Given the description of an element on the screen output the (x, y) to click on. 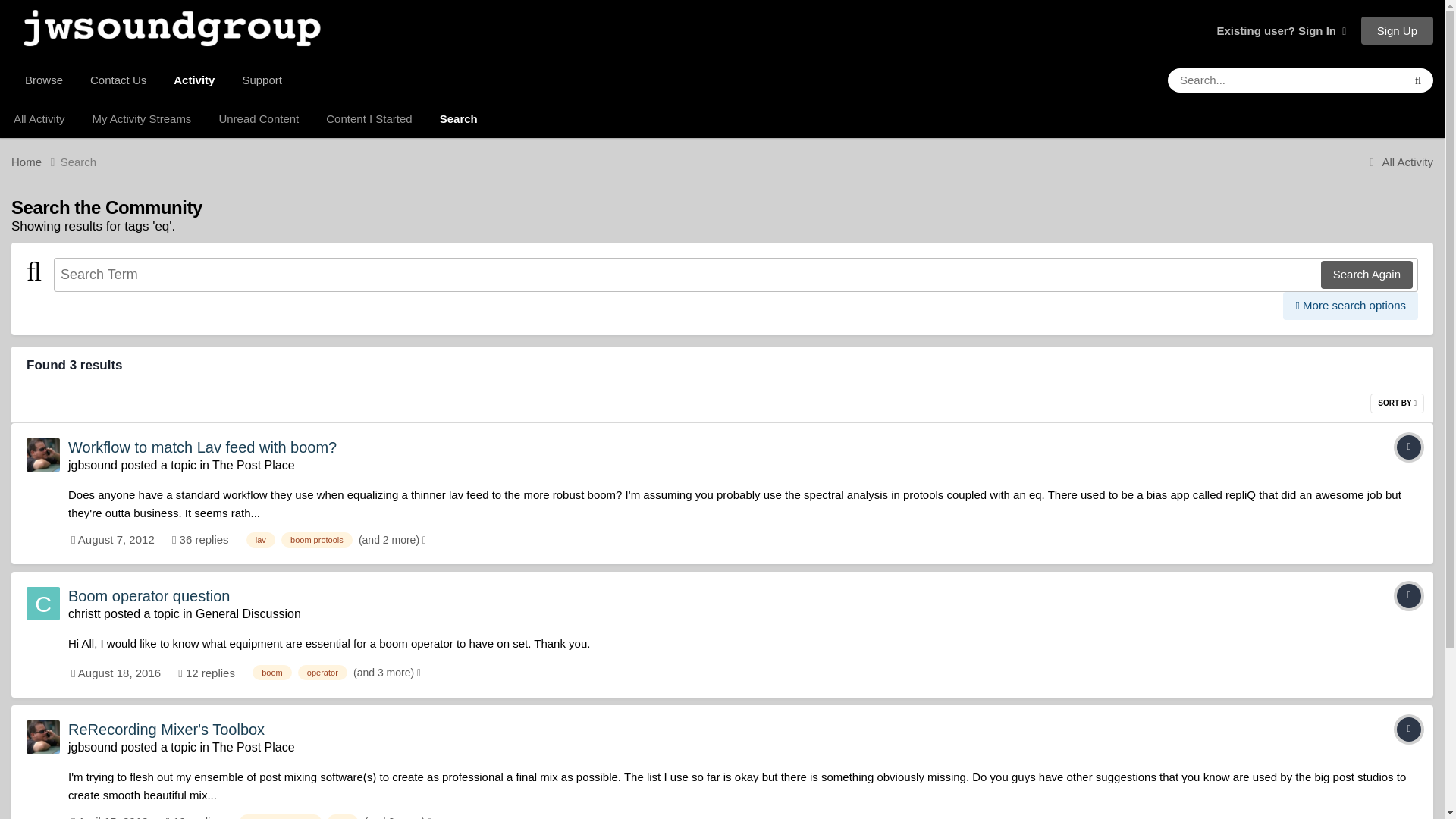
Existing user? Sign In   (1280, 30)
Search (79, 160)
Unread Content (259, 118)
Go to christt's profile (84, 613)
Find other content tagged with 'operator' (322, 672)
Home (36, 161)
Go to jgbsound's profile (42, 454)
Home (36, 161)
Go to christt's profile (42, 603)
Find other content tagged with 'lav' (260, 539)
All Activity (39, 118)
More search options (1350, 305)
Search Again (1366, 275)
Sign Up (1396, 30)
Find other content tagged with 'boom protools' (316, 539)
